Given the description of an element on the screen output the (x, y) to click on. 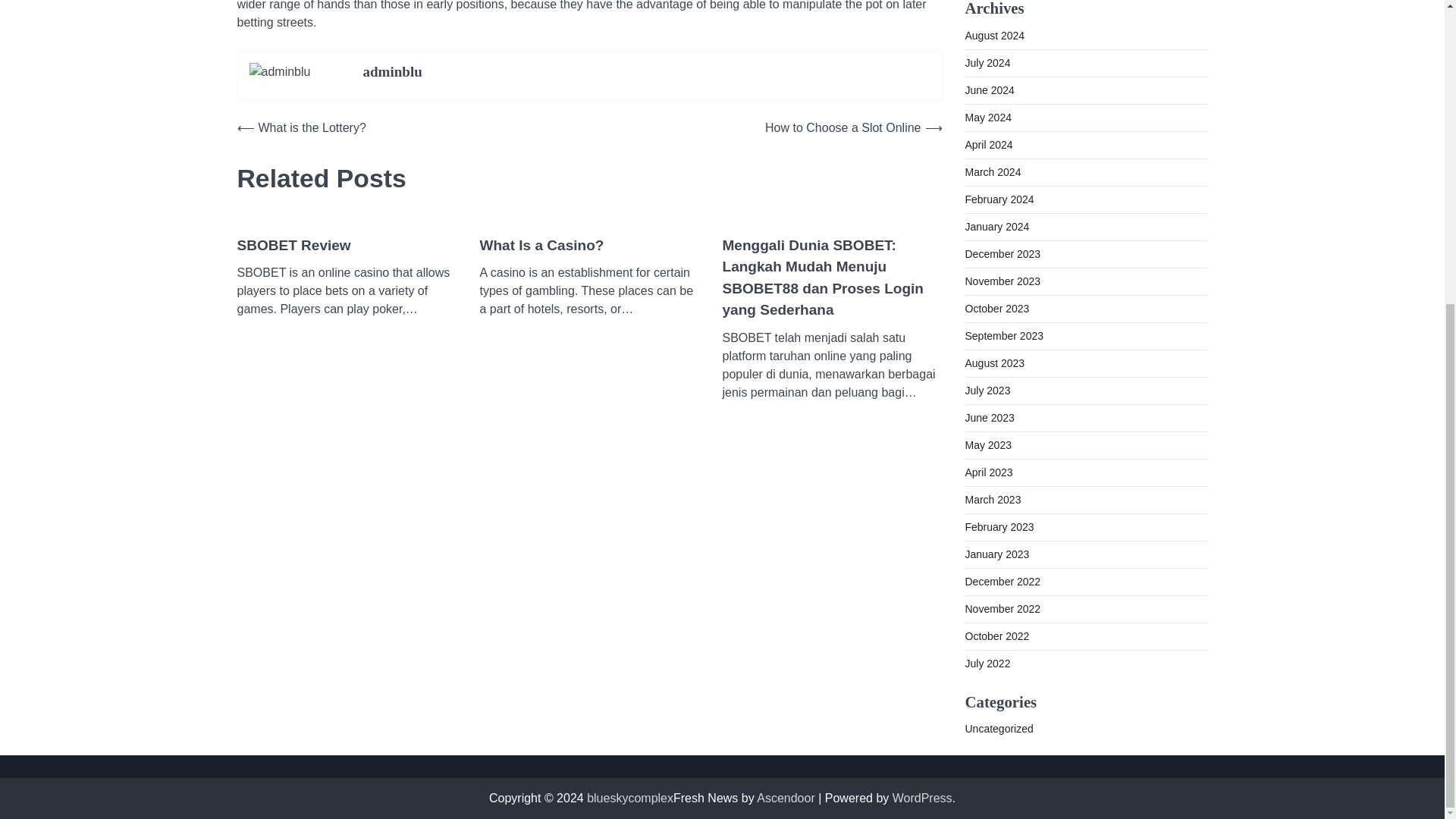
December 2023 (1002, 253)
January 2024 (996, 225)
August 2024 (994, 34)
SBOBET Review (292, 246)
April 2024 (987, 143)
June 2024 (988, 89)
November 2023 (1002, 280)
February 2024 (998, 198)
July 2023 (986, 389)
March 2024 (991, 171)
